Given the description of an element on the screen output the (x, y) to click on. 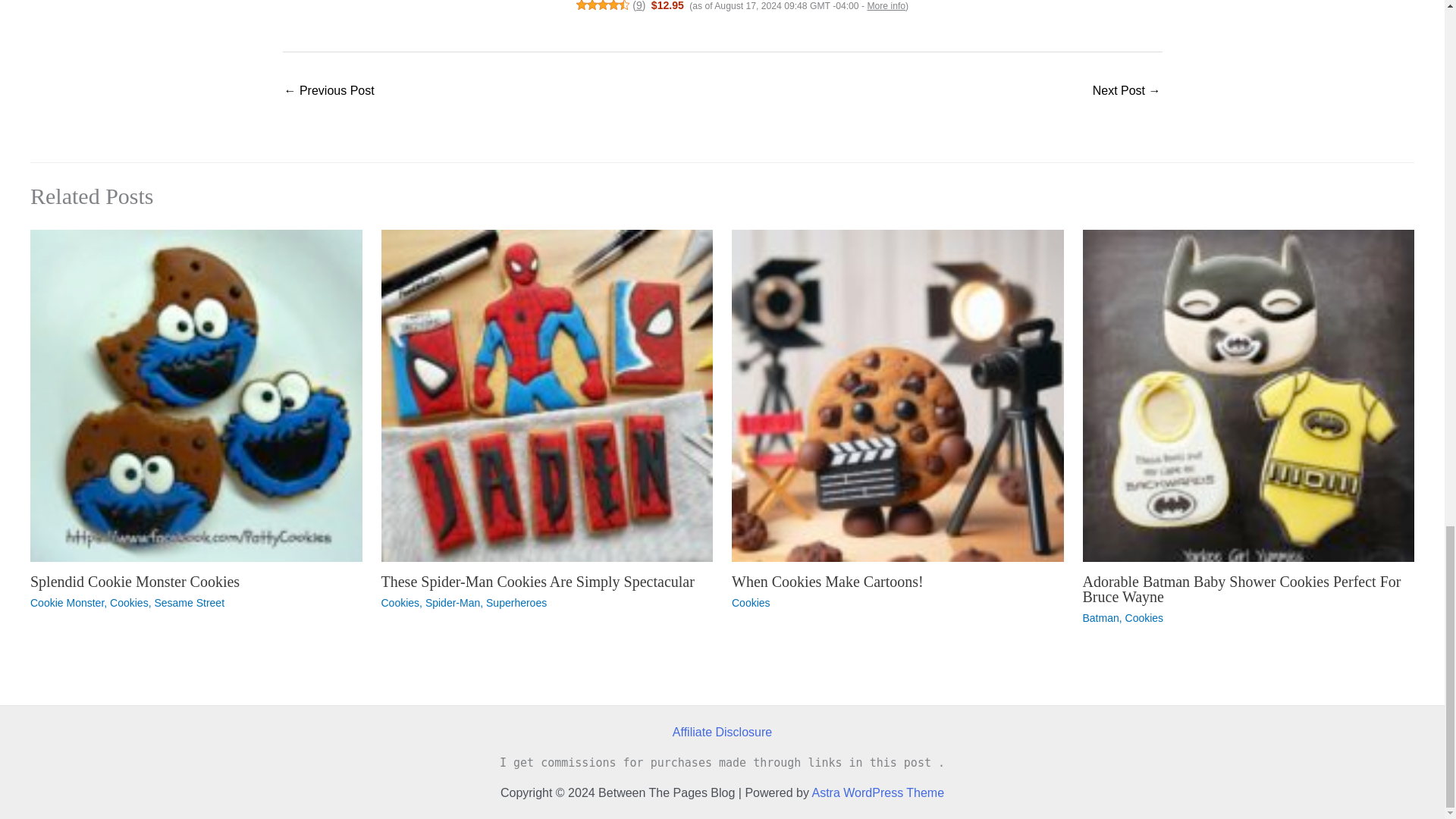
More info (885, 5)
Awesome Casablanca Cake (1126, 91)
Splendid Cookie Monster Cookies (135, 581)
Cookies (129, 603)
Cookies (399, 603)
These Spider-Man Cookies Are Simply Spectacular (537, 581)
Superheroes (516, 603)
Sesame Street (189, 603)
Marvelous Betty Boop Birthday Cookies (328, 91)
Spider-Man (452, 603)
